Given the description of an element on the screen output the (x, y) to click on. 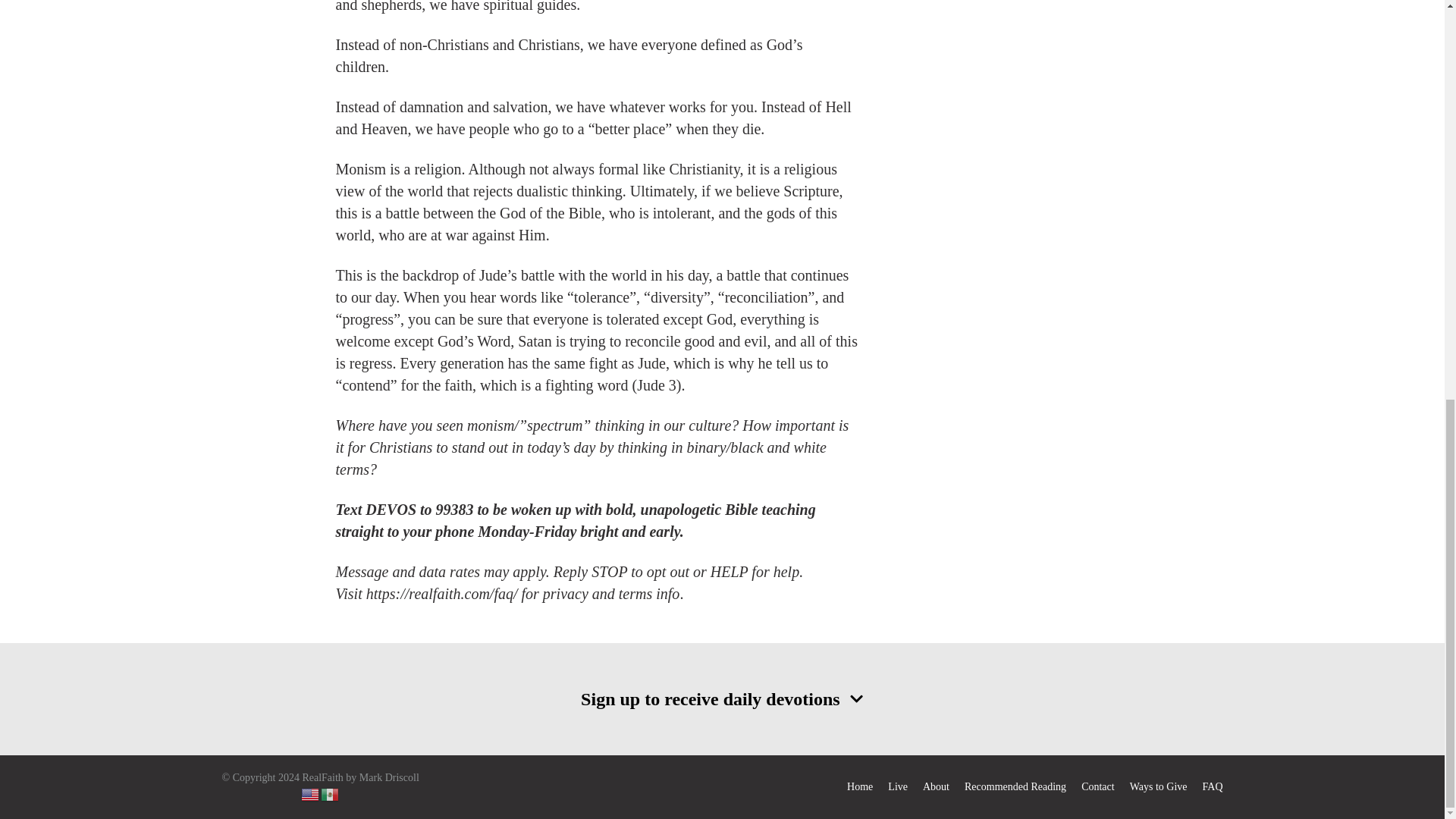
Sign up to receive daily devotions (721, 698)
English (310, 793)
Spanish (330, 793)
